Given the description of an element on the screen output the (x, y) to click on. 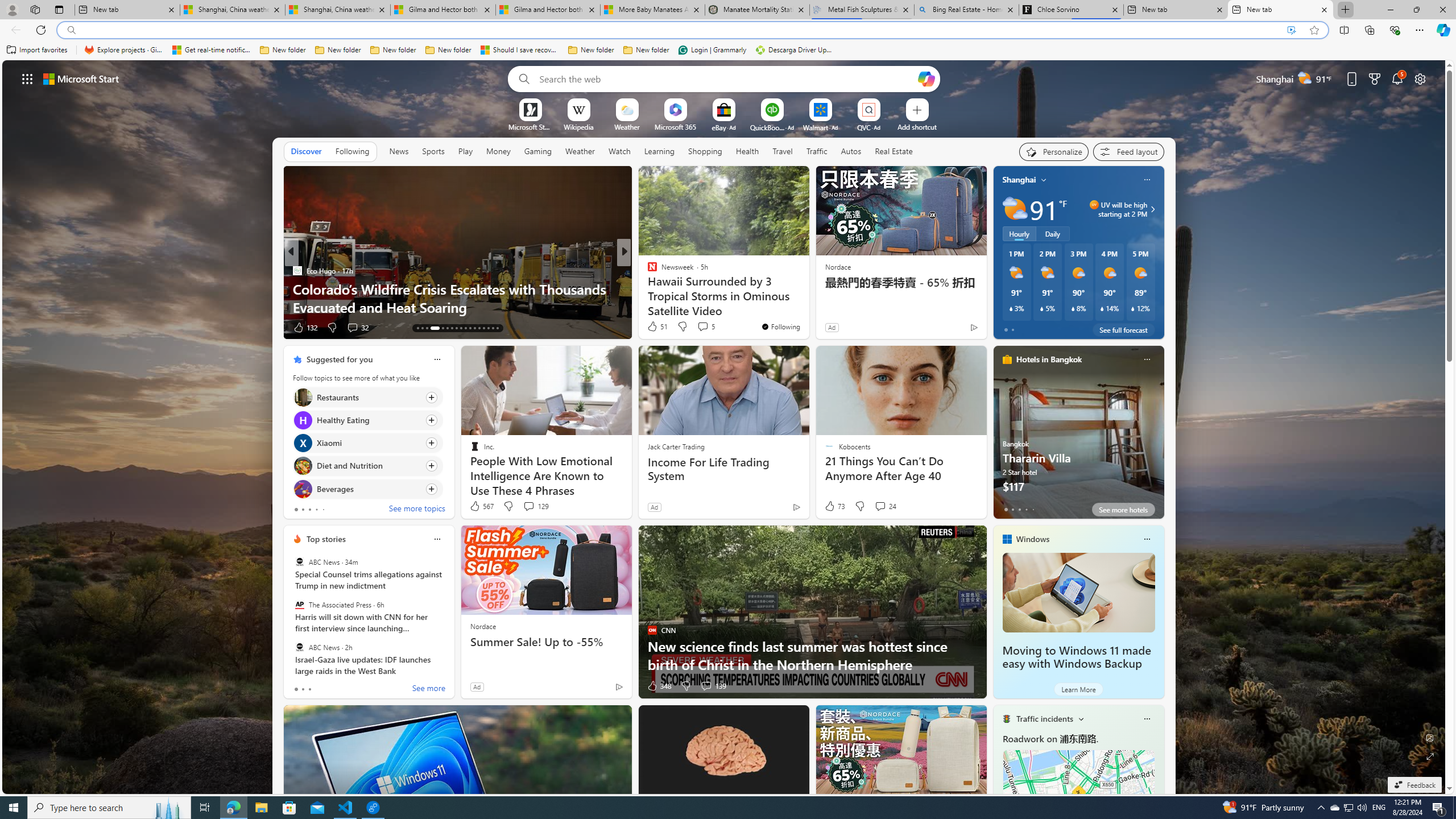
Change scenarios (1080, 718)
View comments 139 Comment (705, 685)
22 Like (652, 327)
View comments 11 Comment (704, 327)
Learn More (1078, 689)
Expand background (1430, 756)
Autos (851, 151)
hotels-header-icon (1006, 358)
11 Like (652, 327)
Click to follow topic Restaurants (367, 397)
